Given the description of an element on the screen output the (x, y) to click on. 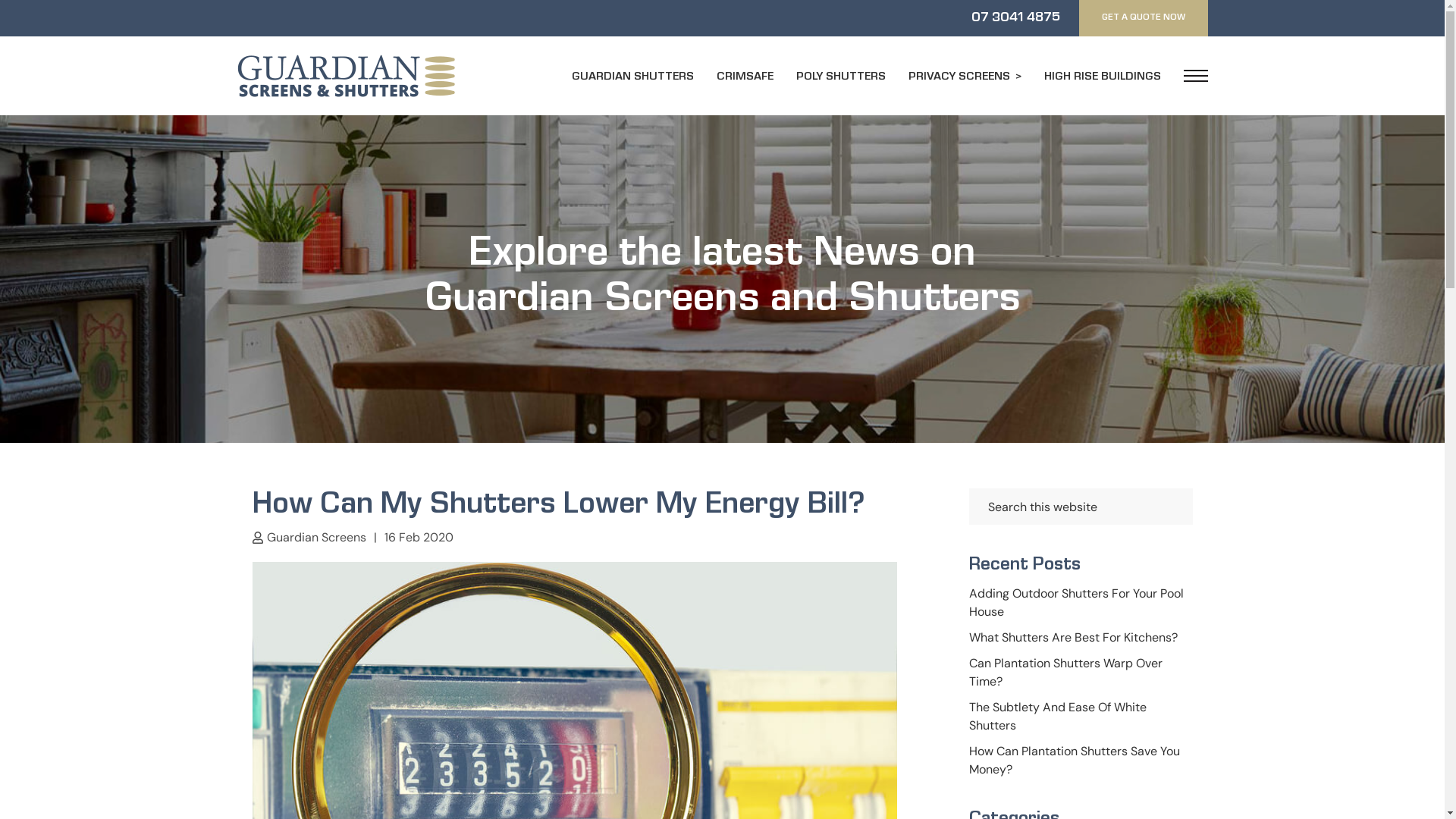
GUARDIAN SHUTTERS Element type: text (632, 76)
07 3041 4875 Element type: text (1014, 17)
What Shutters Are Best For Kitchens? Element type: text (1073, 637)
HIGH RISE BUILDINGS Element type: text (1101, 76)
POLY SHUTTERS Element type: text (840, 76)
PRIVACY SCREENS Element type: text (964, 76)
CRIMSAFE Element type: text (743, 76)
GET A QUOTE NOW Element type: text (1142, 18)
Search Element type: text (1192, 487)
Can Plantation Shutters Warp Over Time? Element type: text (1065, 672)
How Can Plantation Shutters Save You Money? Element type: text (1074, 760)
Skip to primary navigation Element type: text (0, 0)
Adding Outdoor Shutters For Your Pool House Element type: text (1076, 602)
The Subtlety And Ease Of White Shutters Element type: text (1057, 716)
